Given the description of an element on the screen output the (x, y) to click on. 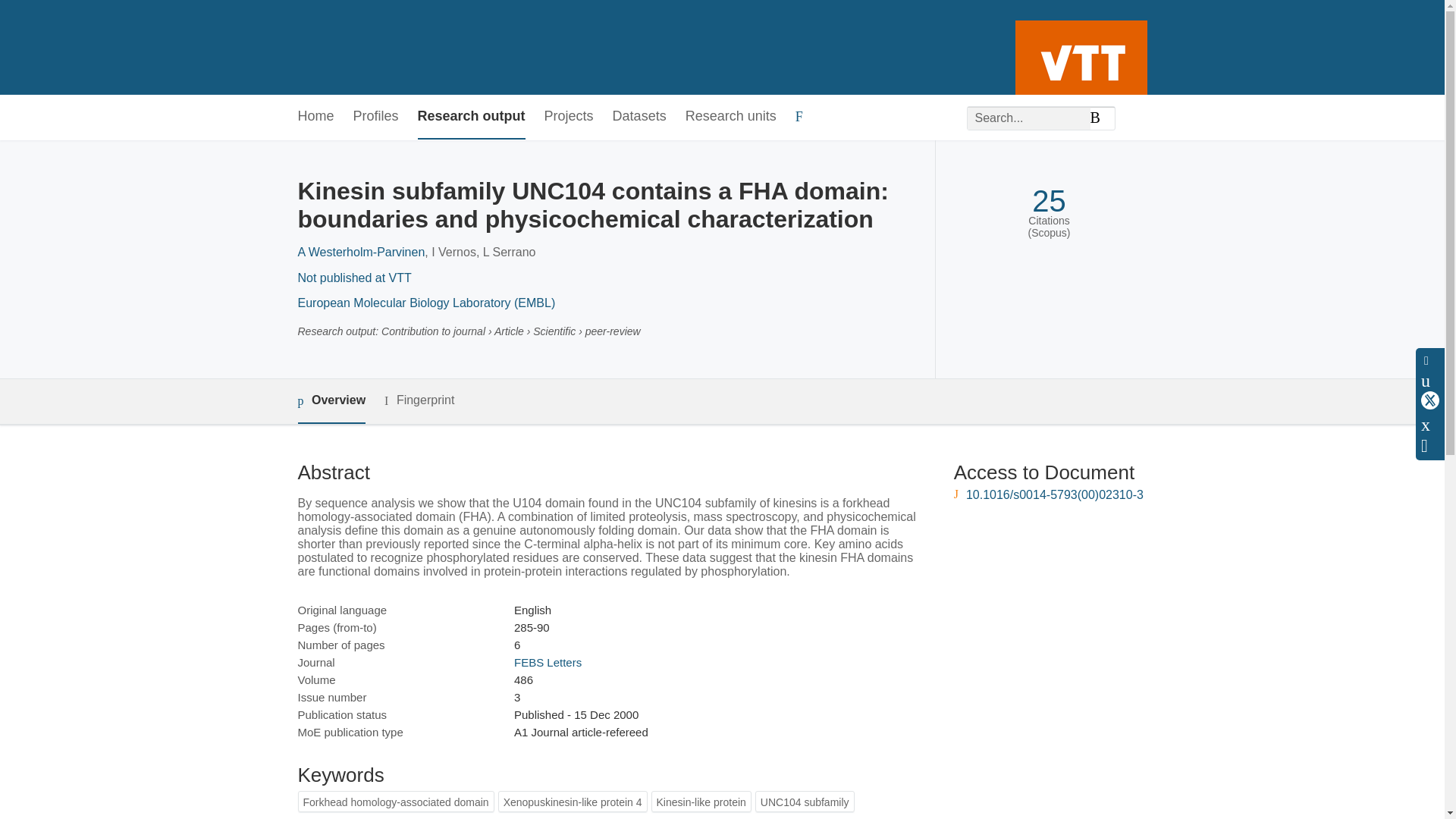
A Westerholm-Parvinen (361, 251)
FEBS Letters (546, 662)
Research units (730, 117)
Research output (471, 117)
Not published at VTT (353, 277)
Overview (331, 401)
Profiles (375, 117)
Datasets (639, 117)
Projects (569, 117)
25 (1048, 201)
VTT's Research Information Portal Home (322, 47)
Fingerprint (419, 400)
